Given the description of an element on the screen output the (x, y) to click on. 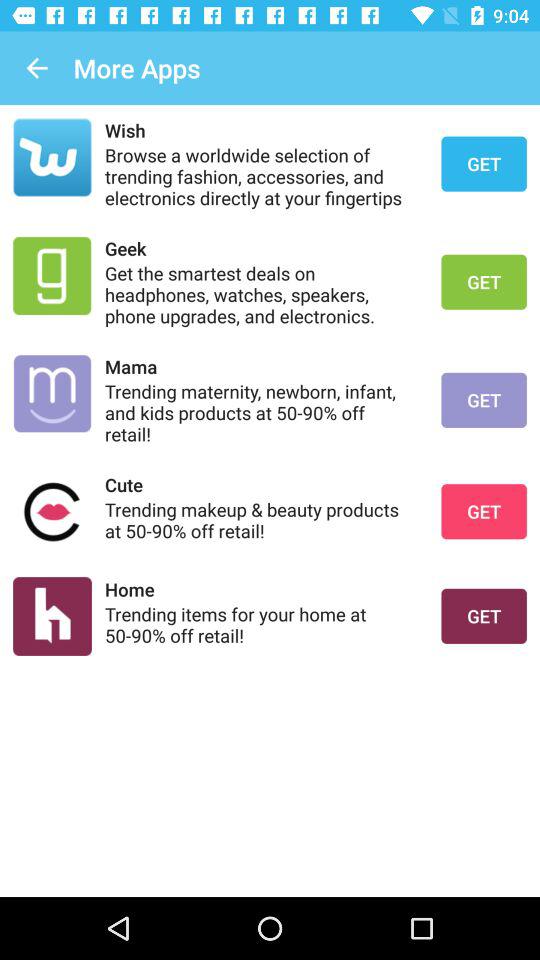
flip to mama (260, 366)
